Given the description of an element on the screen output the (x, y) to click on. 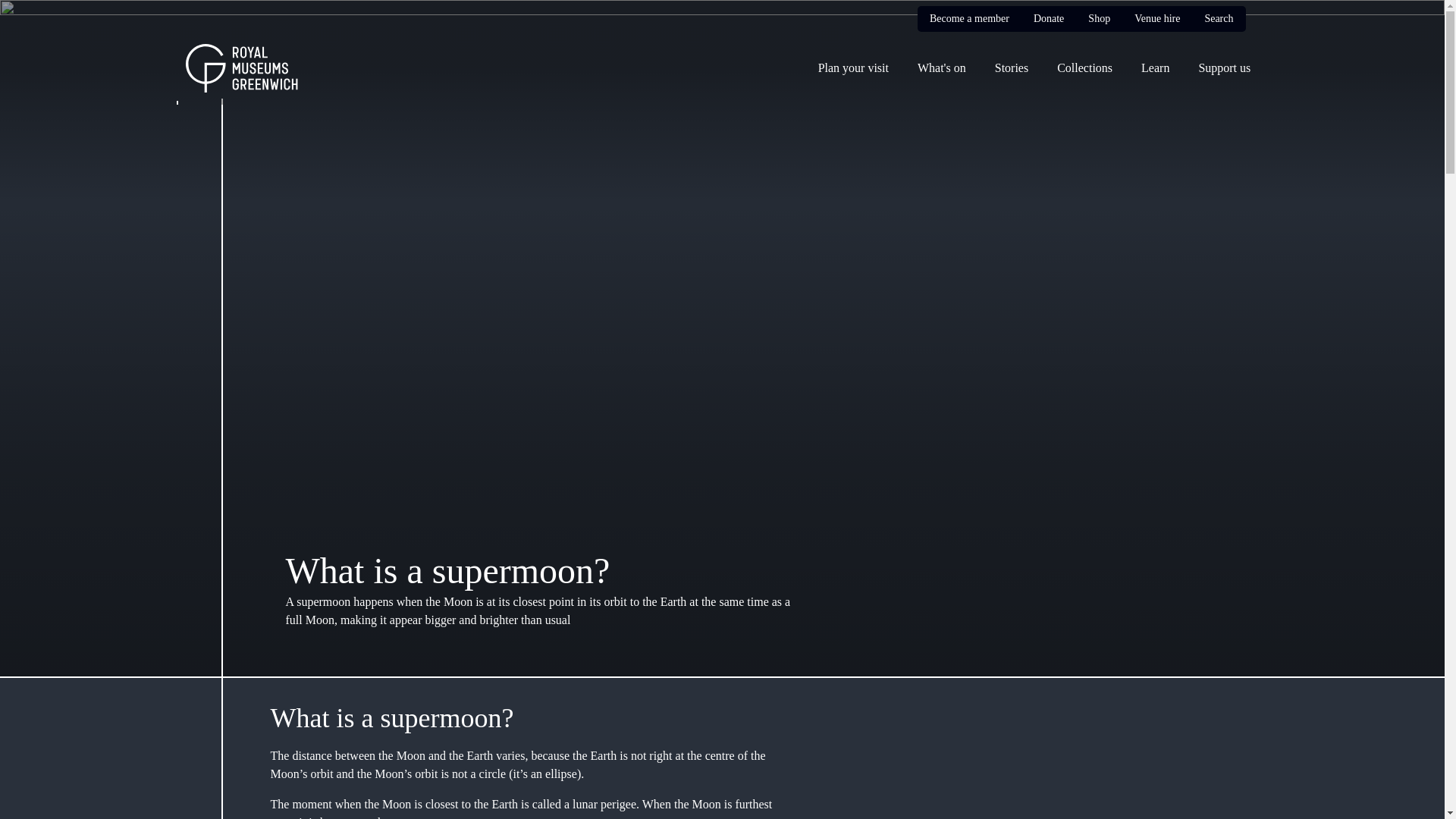
Search (1218, 18)
Plan your visit (850, 67)
Shop (1098, 18)
Become a member (969, 18)
Venue hire (1156, 18)
Donate (1048, 18)
What's on (939, 67)
Stories (1008, 67)
